Given the description of an element on the screen output the (x, y) to click on. 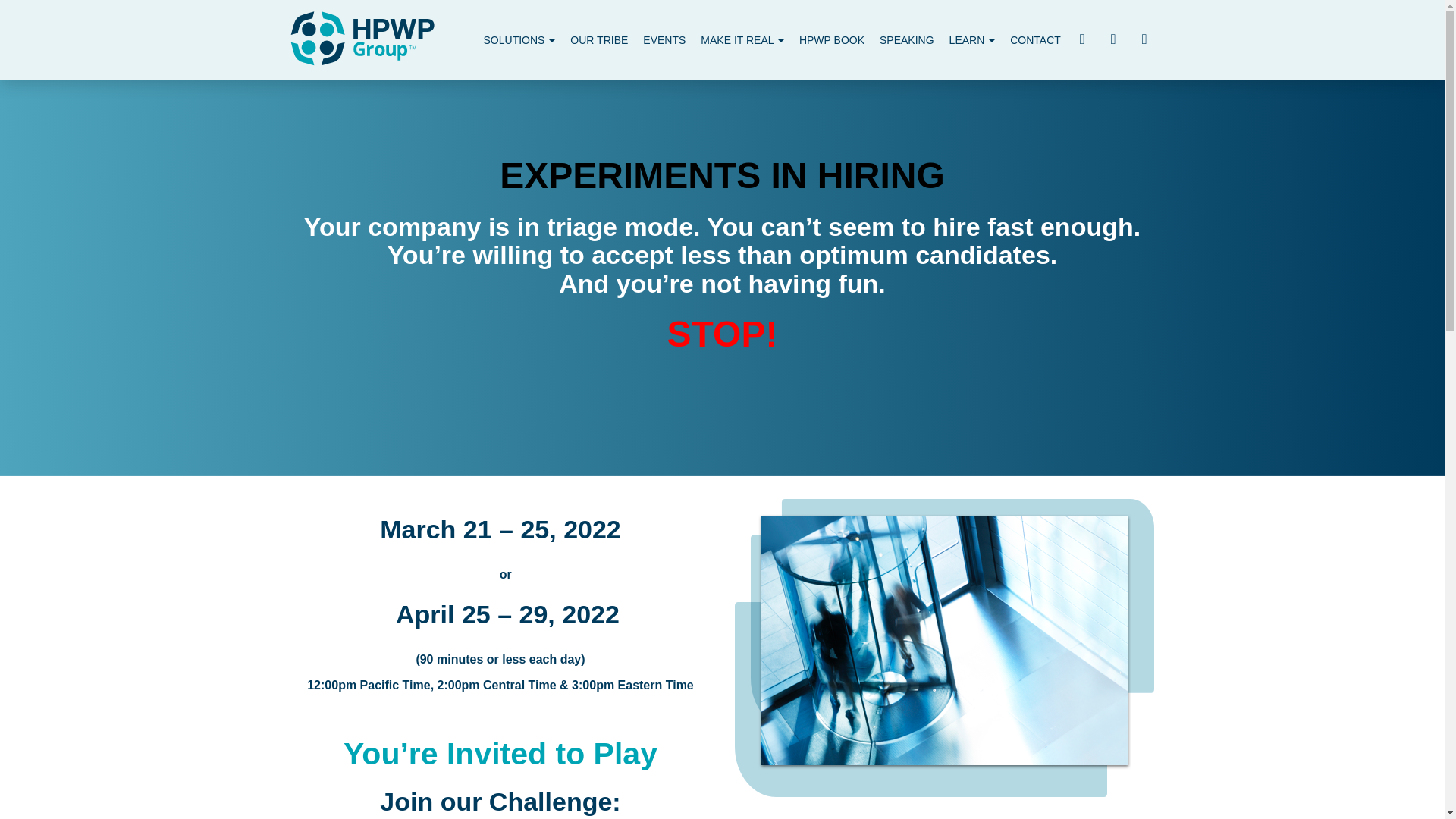
MAKE IT REAL (742, 40)
OUR TRIBE (598, 40)
HPWP BOOK (832, 40)
SOLUTIONS (519, 40)
